Given the description of an element on the screen output the (x, y) to click on. 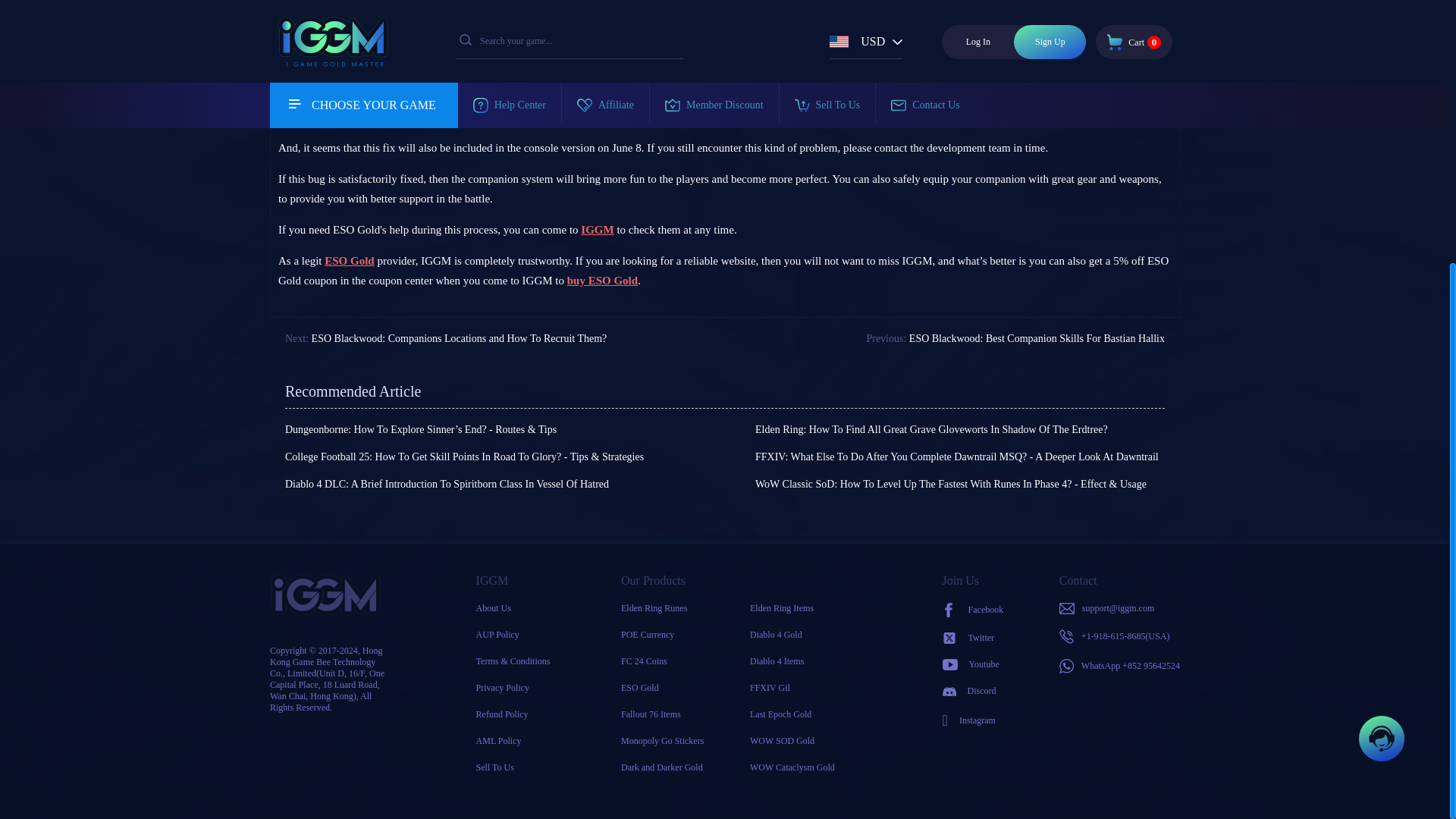
youtube (973, 664)
twitter (973, 637)
Instagram (973, 720)
facebook (973, 609)
discord (973, 690)
